Given the description of an element on the screen output the (x, y) to click on. 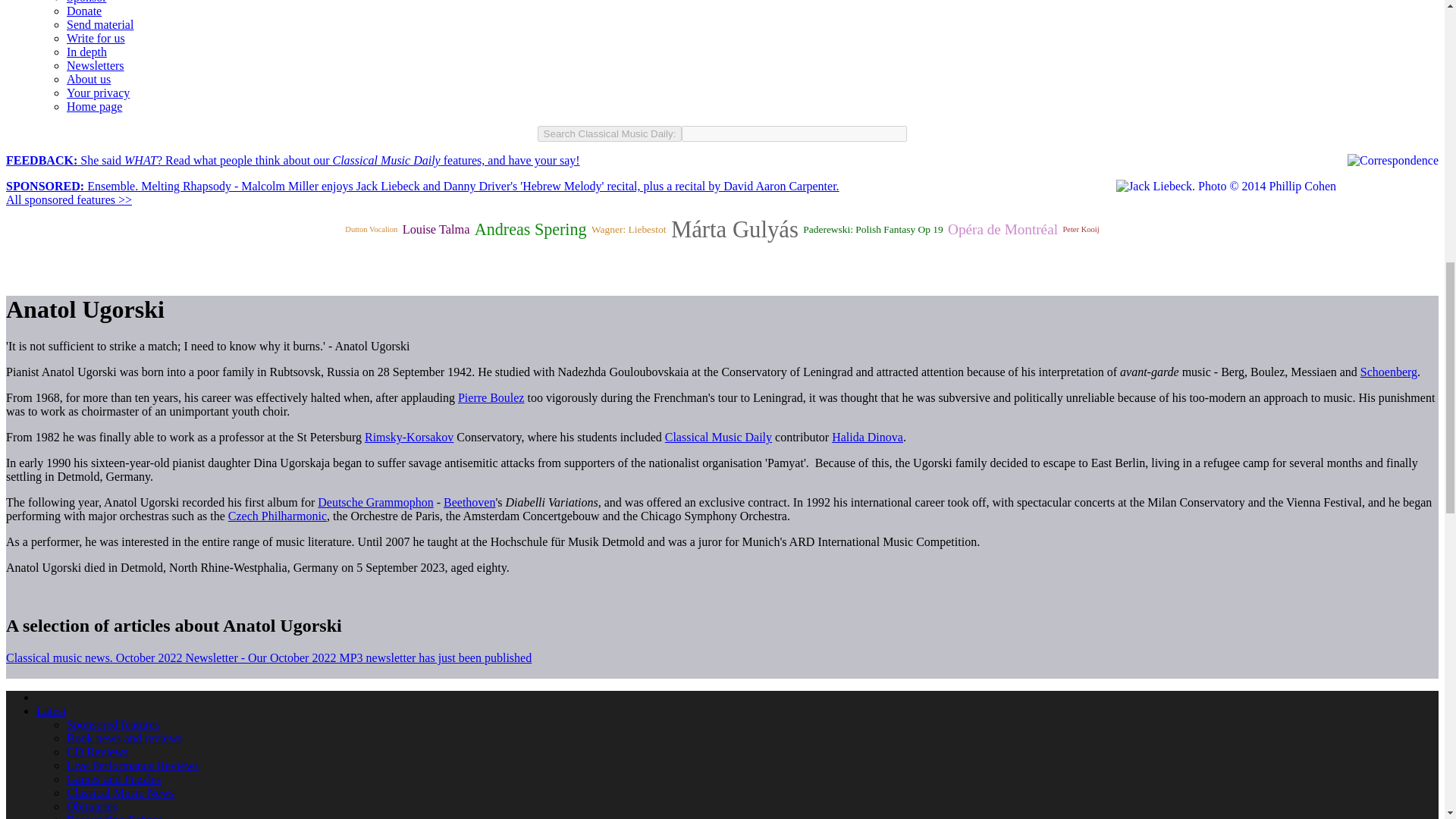
Search Classical Music Daily: (609, 133)
